Given the description of an element on the screen output the (x, y) to click on. 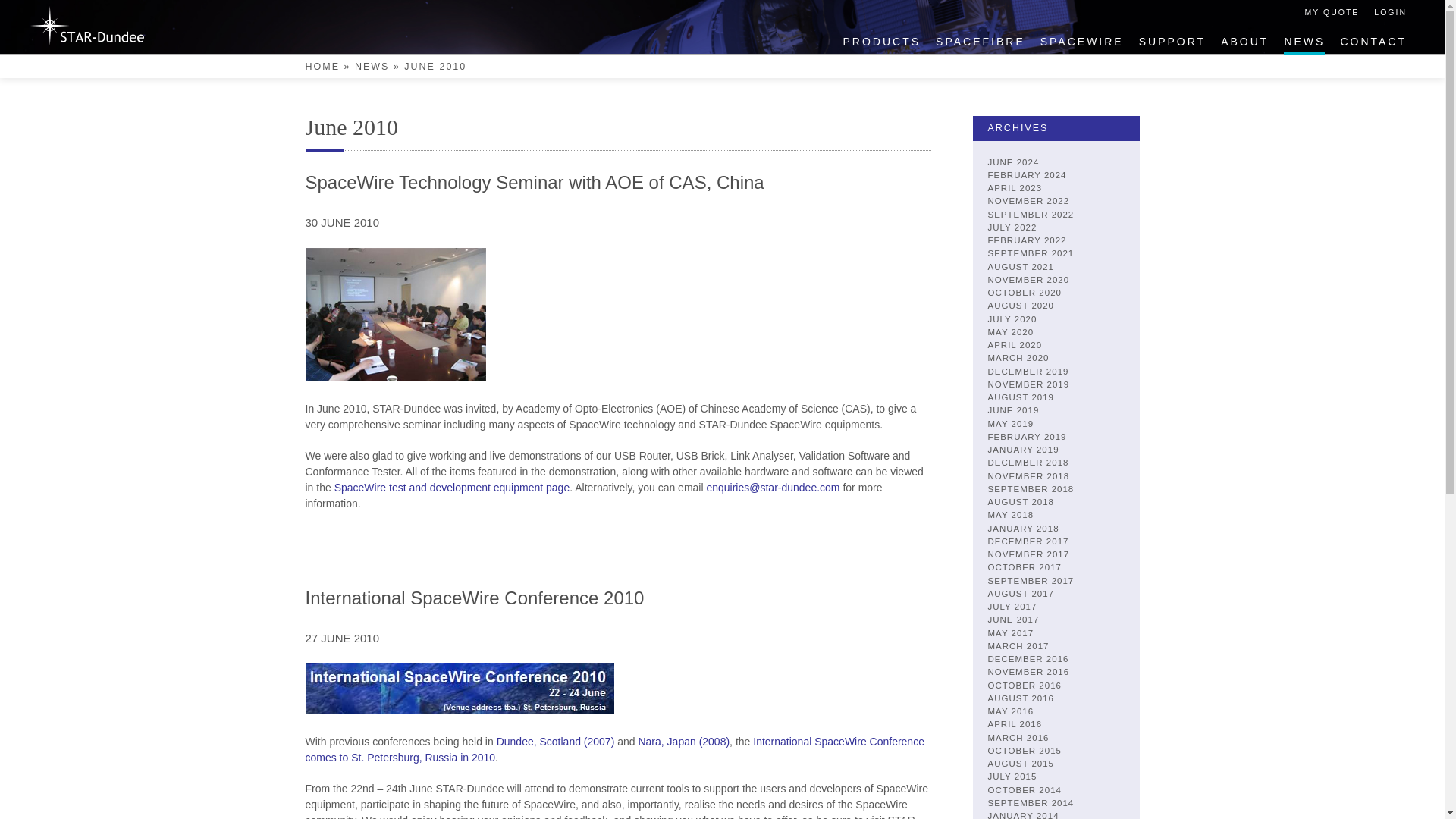
SUPPORT (1171, 41)
SPACEFIBRE (980, 41)
CONTACT (1372, 41)
MY QUOTE (1331, 12)
SPACEWIRE (1082, 41)
PRODUCTS (882, 41)
NEWS (1304, 41)
ABOUT (1244, 41)
